Given the description of an element on the screen output the (x, y) to click on. 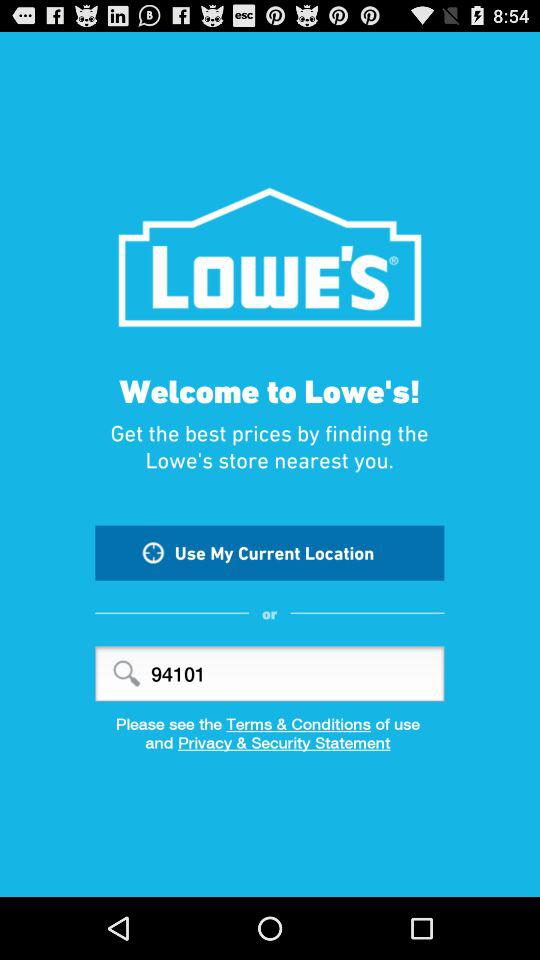
press the 94101 item (269, 673)
